Given the description of an element on the screen output the (x, y) to click on. 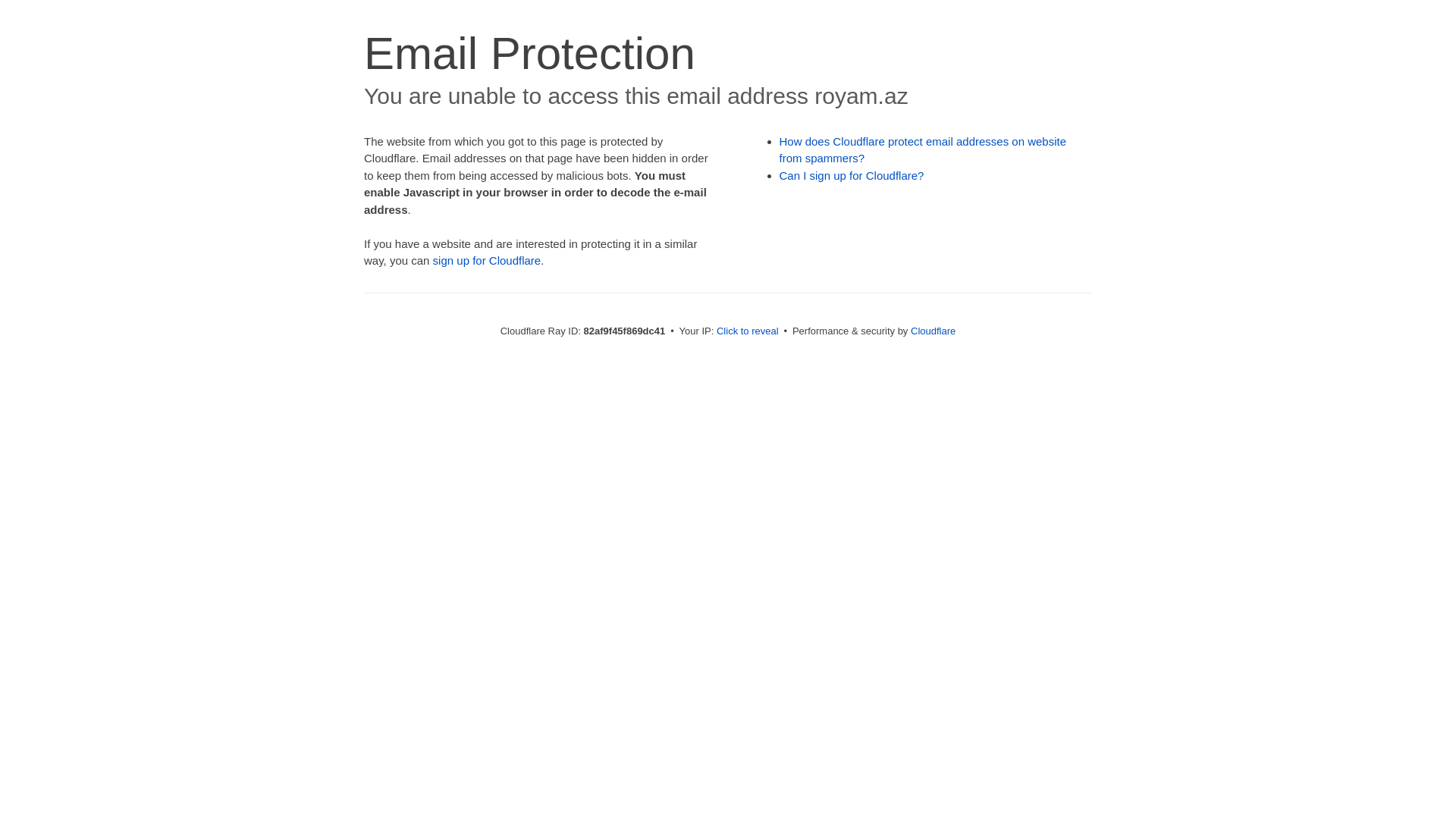
Can I sign up for Cloudflare? Element type: text (851, 175)
Click to reveal Element type: text (747, 330)
sign up for Cloudflare Element type: text (487, 260)
Cloudflare Element type: text (932, 330)
